Given the description of an element on the screen output the (x, y) to click on. 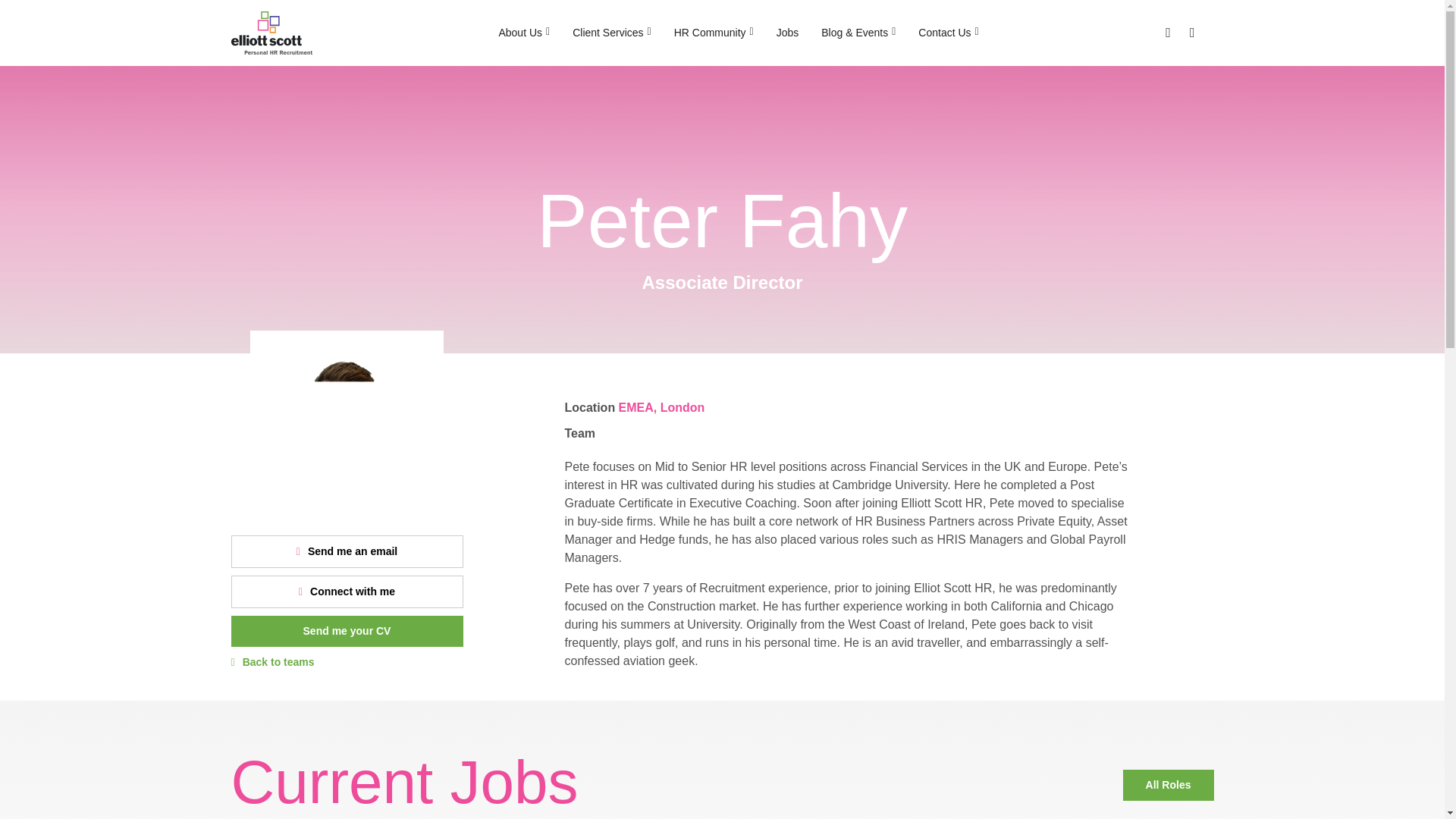
Client Services (611, 32)
About Us (523, 32)
HR Community (713, 32)
Contact Us (948, 32)
Jobs (787, 32)
